Given the description of an element on the screen output the (x, y) to click on. 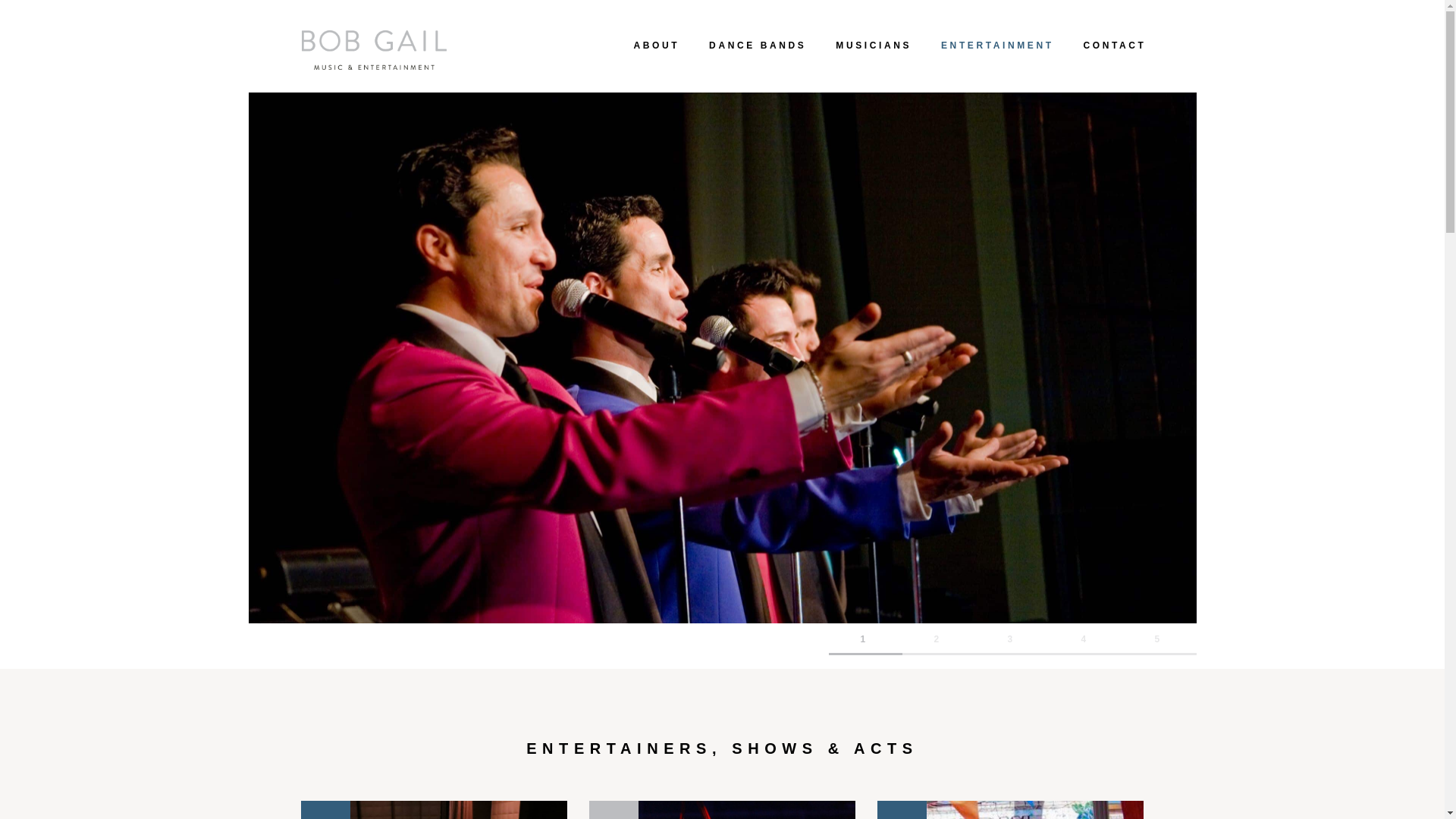
3 (1012, 642)
CIRQUE ACTS (722, 809)
5 (1159, 642)
ENTERTAINMENT (997, 45)
1 (865, 642)
DANCE BANDS (757, 45)
CASINO (434, 809)
4 (1085, 642)
DANCERS (1009, 809)
CONTACT (1115, 45)
2 (938, 642)
MUSICIANS (873, 45)
ABOUT (656, 45)
